Given the description of an element on the screen output the (x, y) to click on. 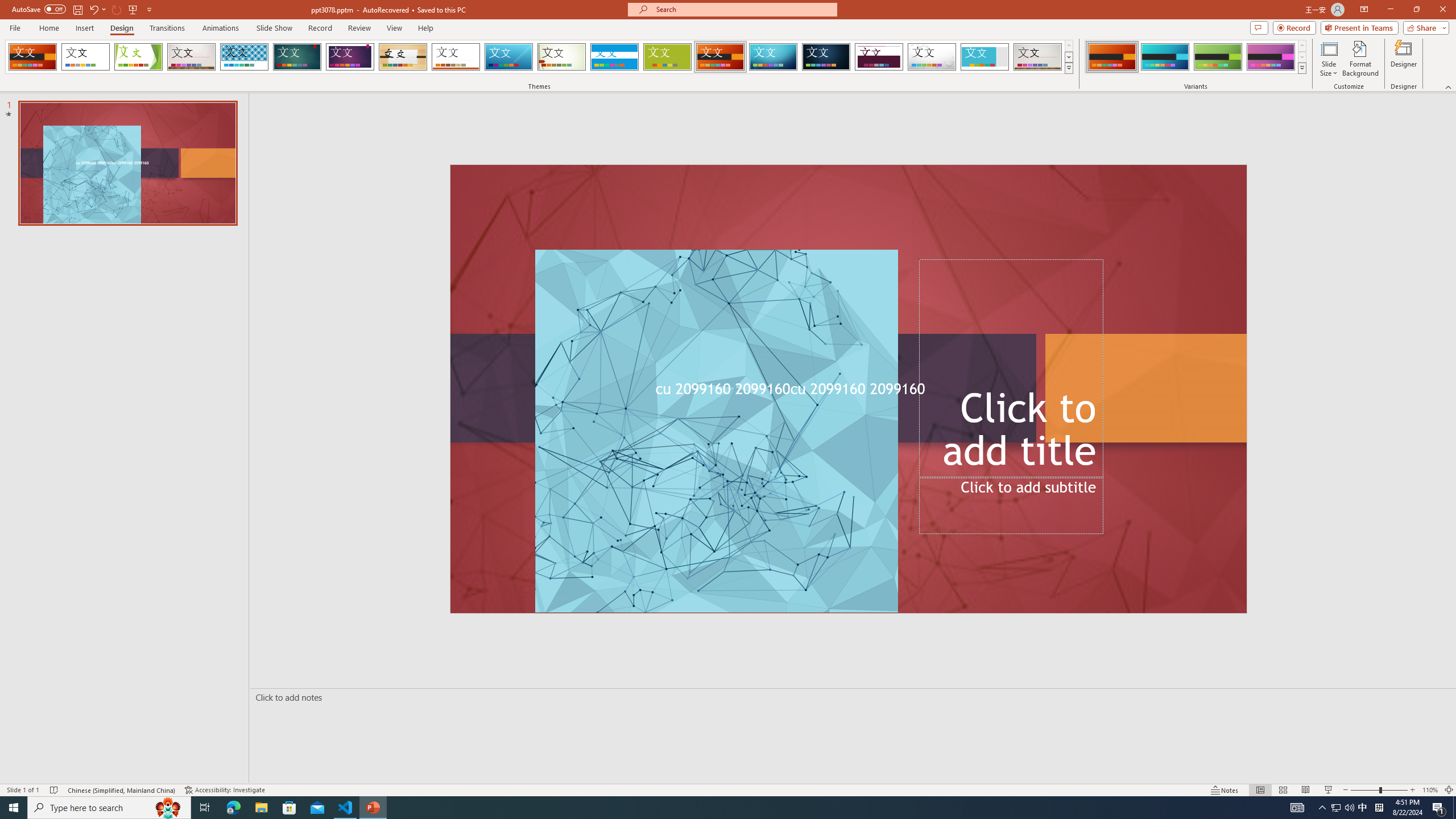
Ion (296, 56)
Zoom 110% (1430, 790)
Retrospect (455, 56)
